Given the description of an element on the screen output the (x, y) to click on. 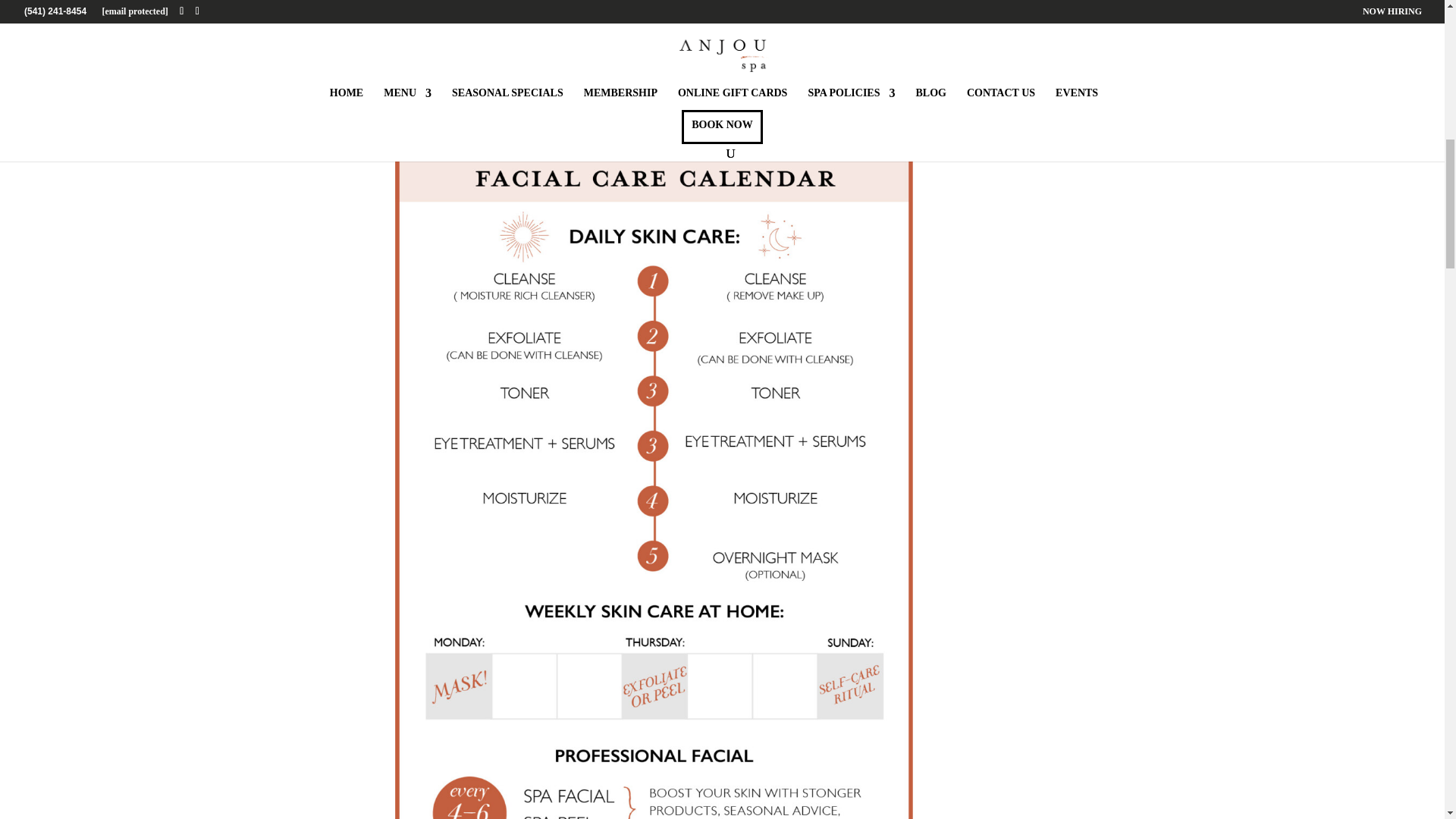
benefits of your professional treatments (681, 32)
Instagram (571, 124)
download and print. (598, 101)
